Given the description of an element on the screen output the (x, y) to click on. 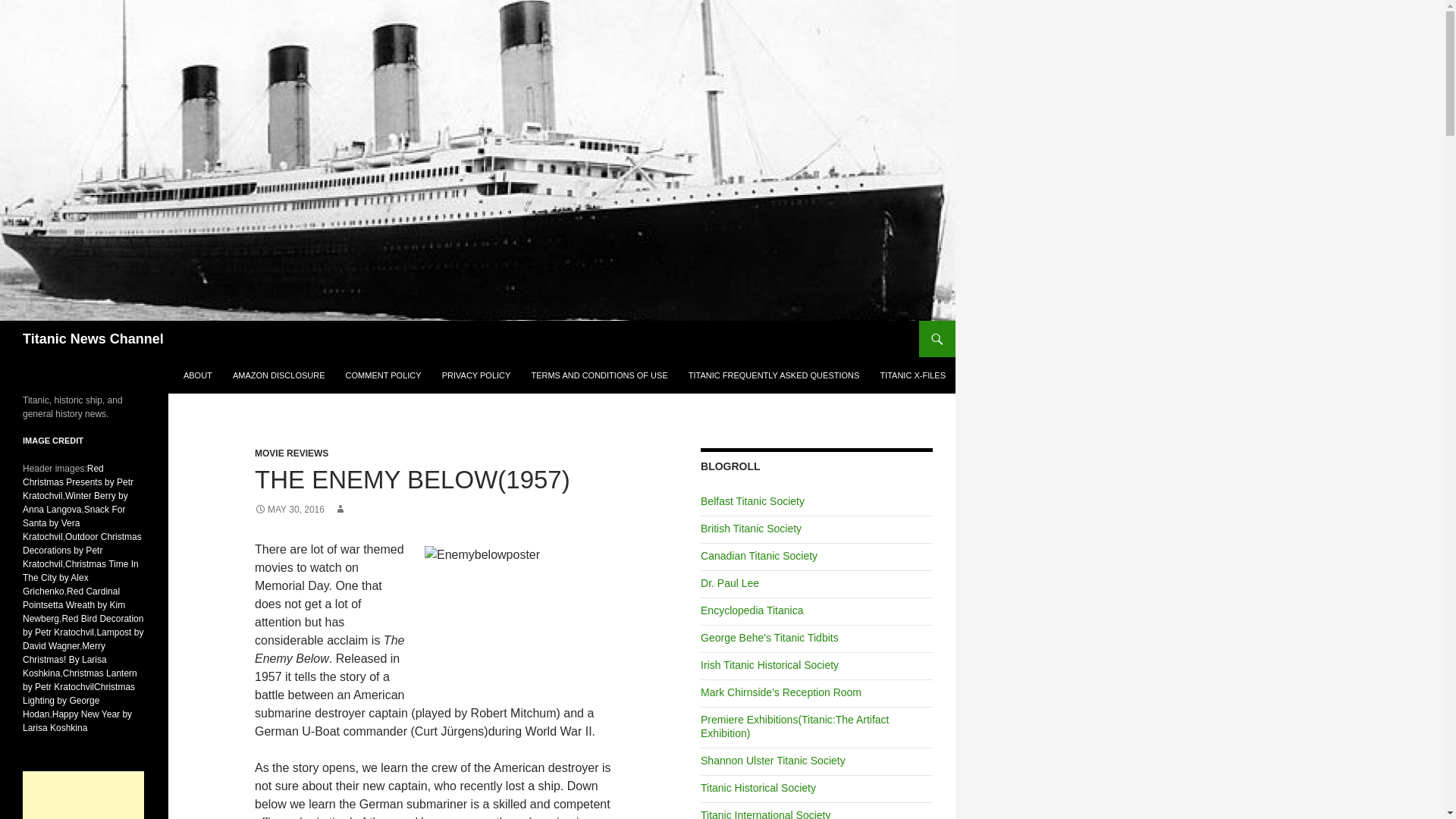
Irish Titanic Historical Society (769, 664)
Shannon Ulster Titanic Society (772, 760)
MAY 30, 2016 (289, 509)
Mark Chirnside's Reception Room (780, 692)
Titanic Historical Society (757, 787)
Belfast Titanic Society (752, 500)
George Behe's Titanic Tidbits (769, 637)
Titanic International Society (764, 814)
